Given the description of an element on the screen output the (x, y) to click on. 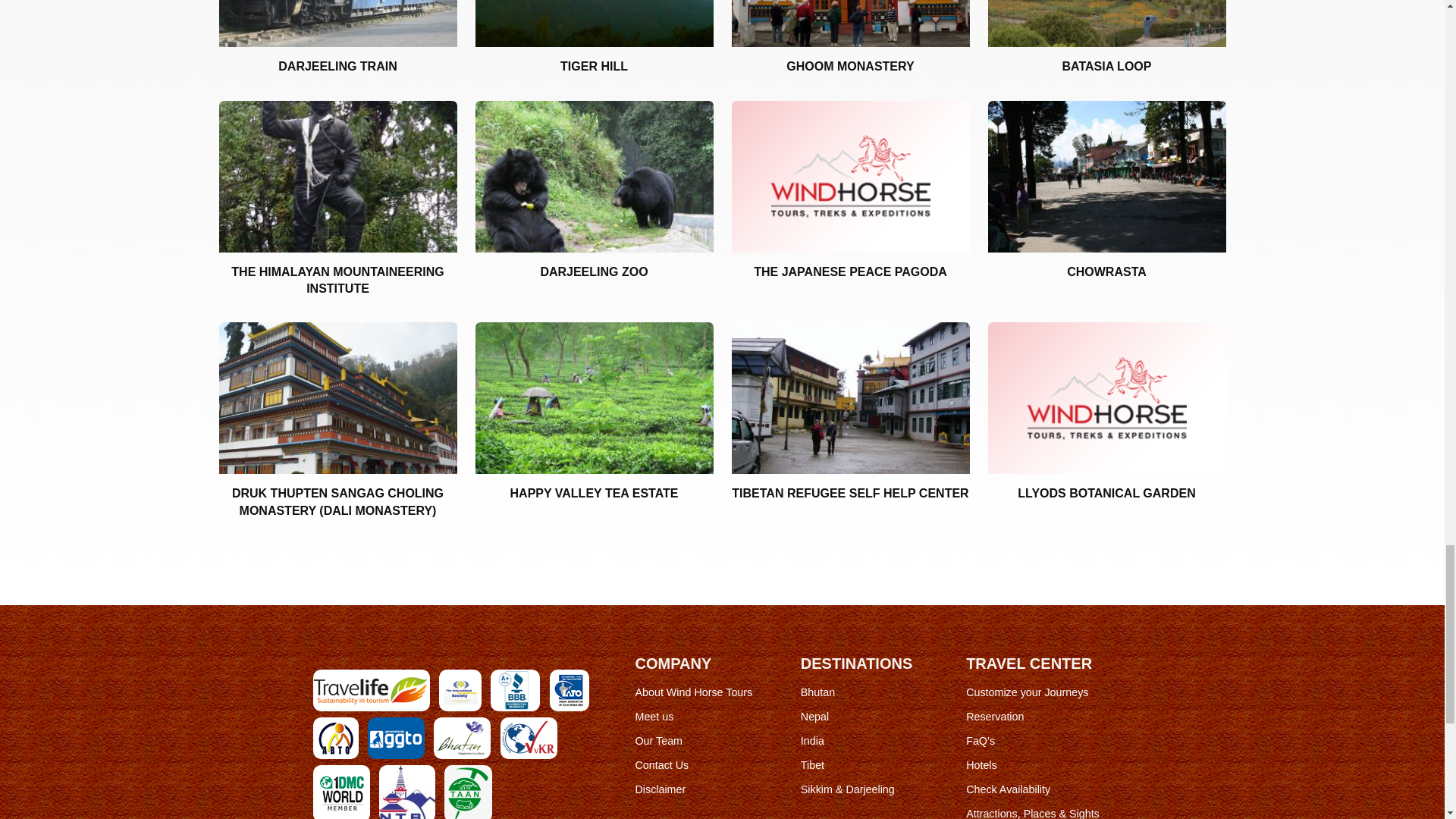
Tibetan refugee self help center (849, 398)
Darjeeling Zoo (593, 175)
Chowrasta (1106, 175)
The Japanese Peace Pagoda (849, 175)
Batasia Loop (1106, 23)
Llyods botanical garden (1106, 398)
Tiger Hill (593, 23)
The Himalayan Mountaineering Institute (337, 175)
Darjeeling Train (337, 23)
Ghoom Monastery (849, 23)
Happy Valley Tea Estate (593, 398)
